Given the description of an element on the screen output the (x, y) to click on. 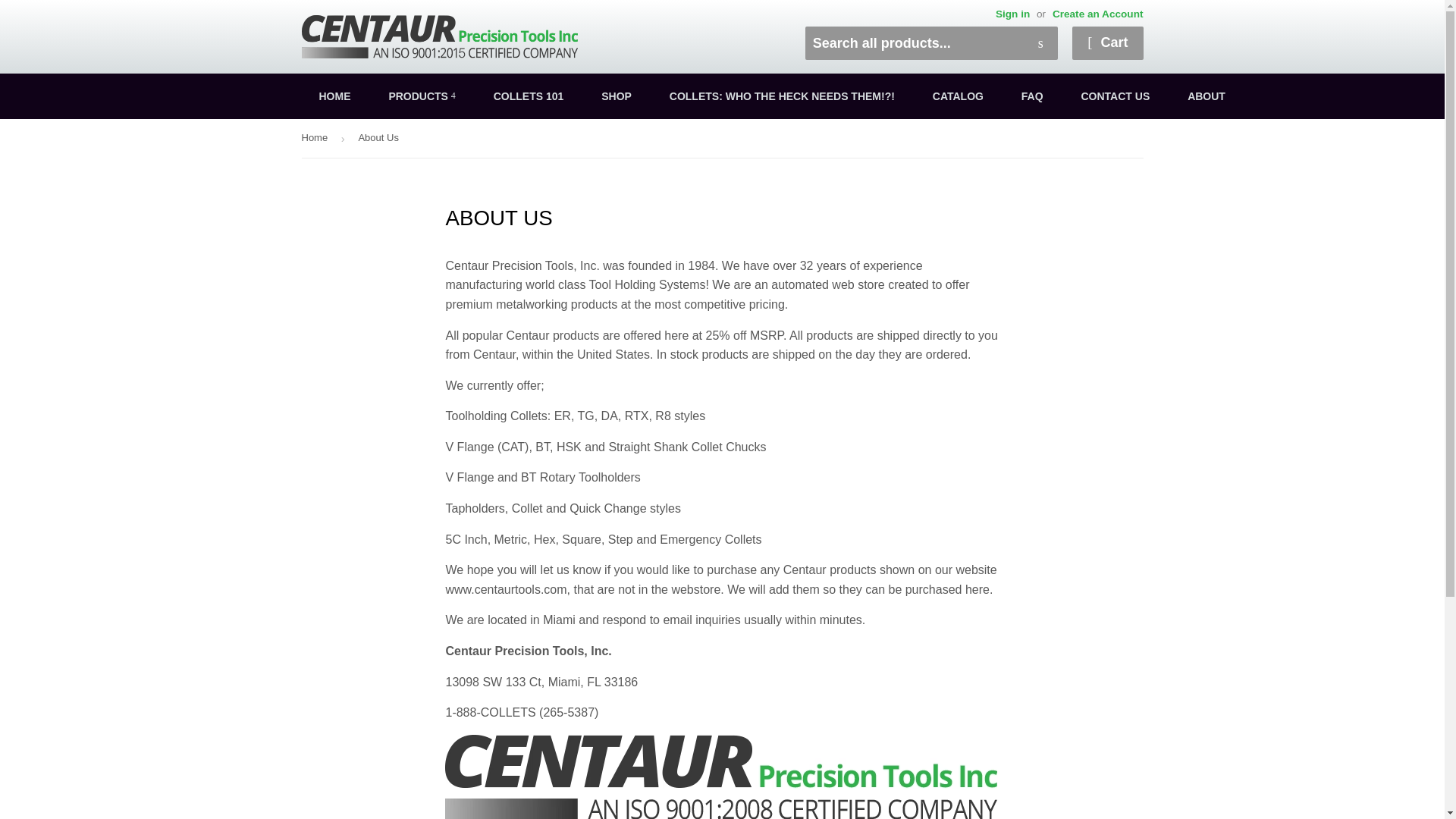
COLLETS: WHO THE HECK NEEDS THEM!?! (782, 94)
SHOP (616, 94)
ABOUT (1206, 94)
COLLETS 101 (528, 94)
FAQ (1032, 94)
Cart (1106, 42)
Sign in (1012, 13)
HOME (334, 94)
PRODUCTS (421, 94)
CATALOG (958, 94)
Search (1040, 43)
Create an Account (1097, 13)
CONTACT US (1114, 94)
